Given the description of an element on the screen output the (x, y) to click on. 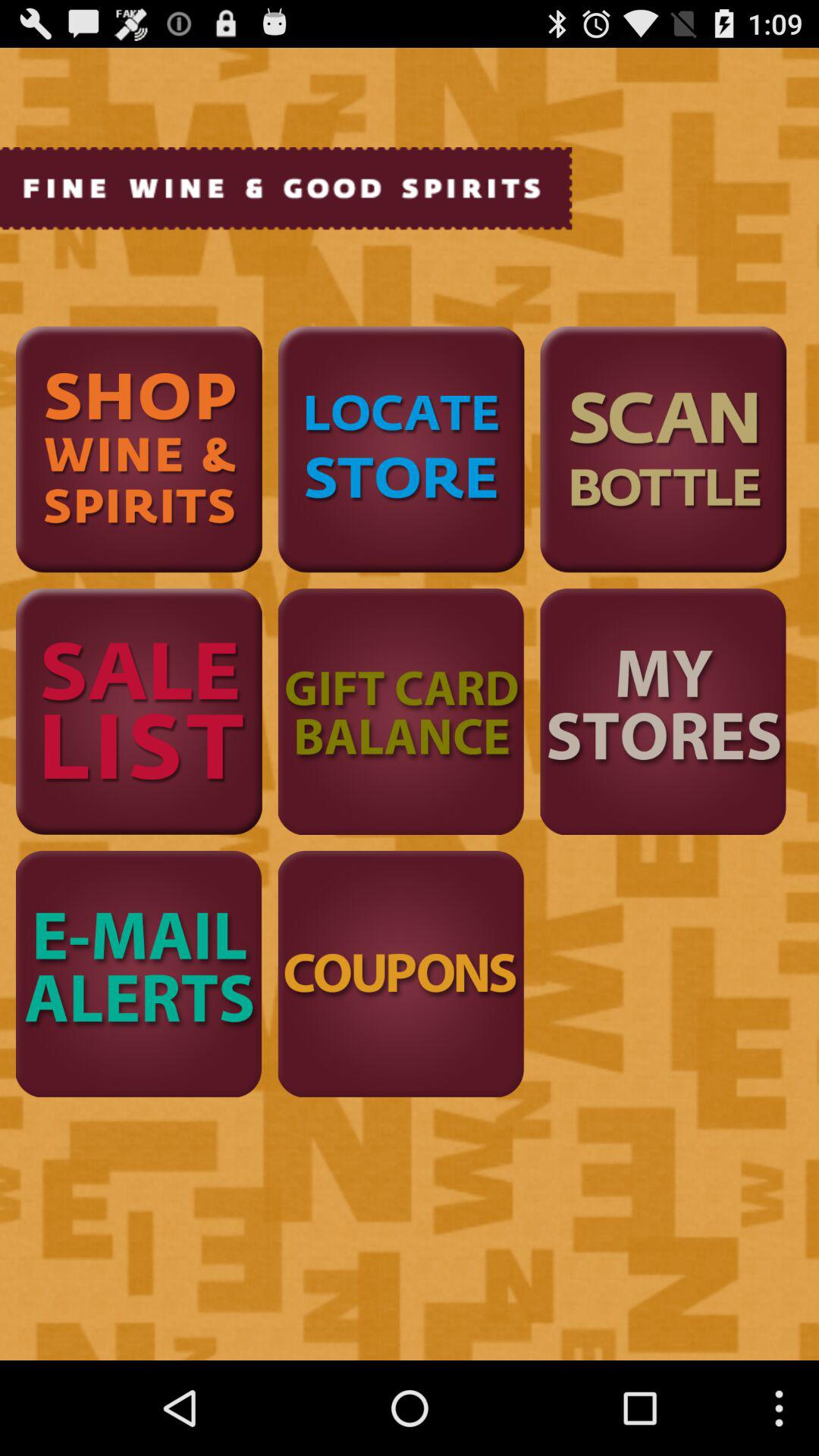
select the my stories option (663, 711)
